Given the description of an element on the screen output the (x, y) to click on. 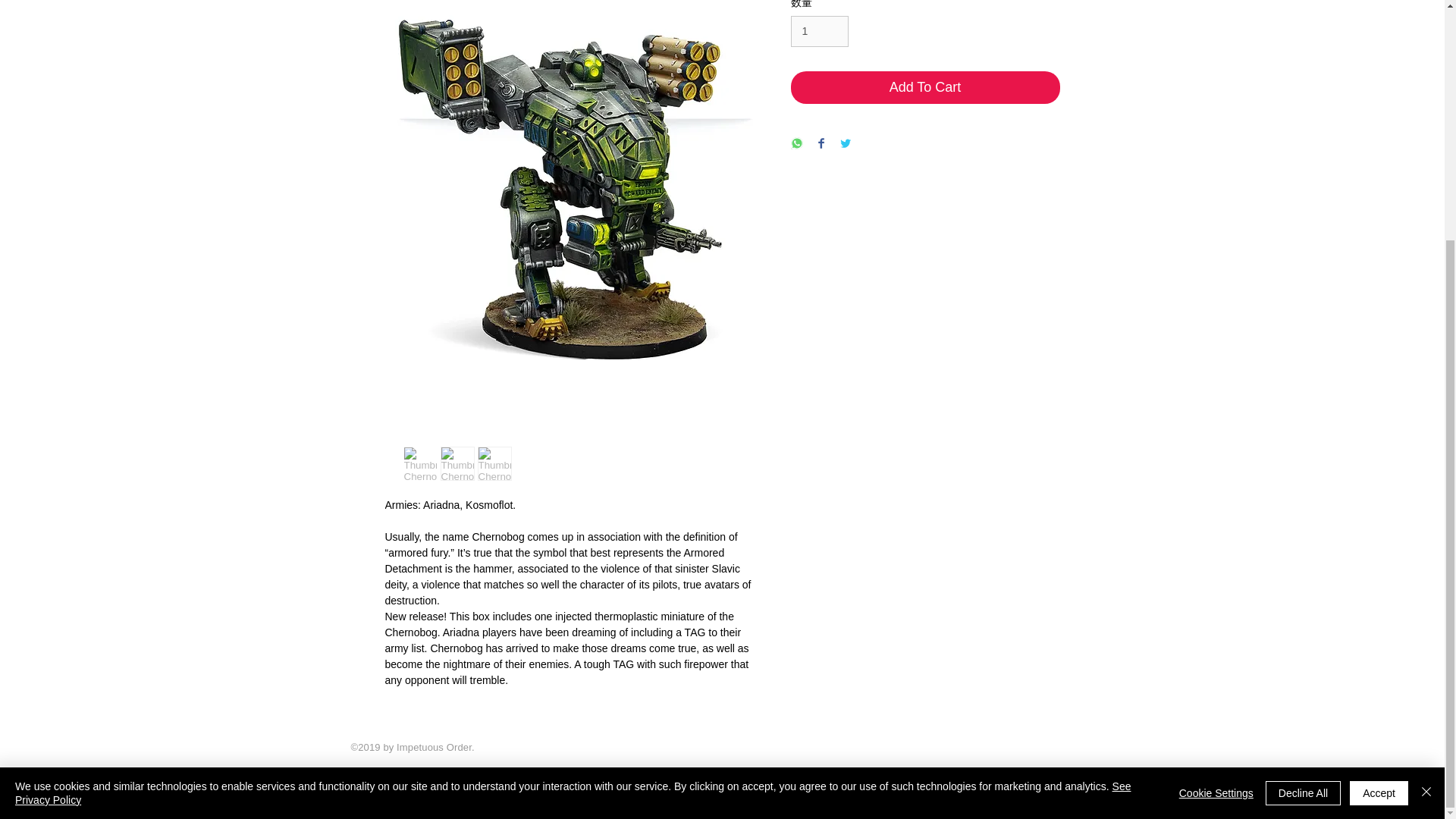
1 (818, 30)
